Given the description of an element on the screen output the (x, y) to click on. 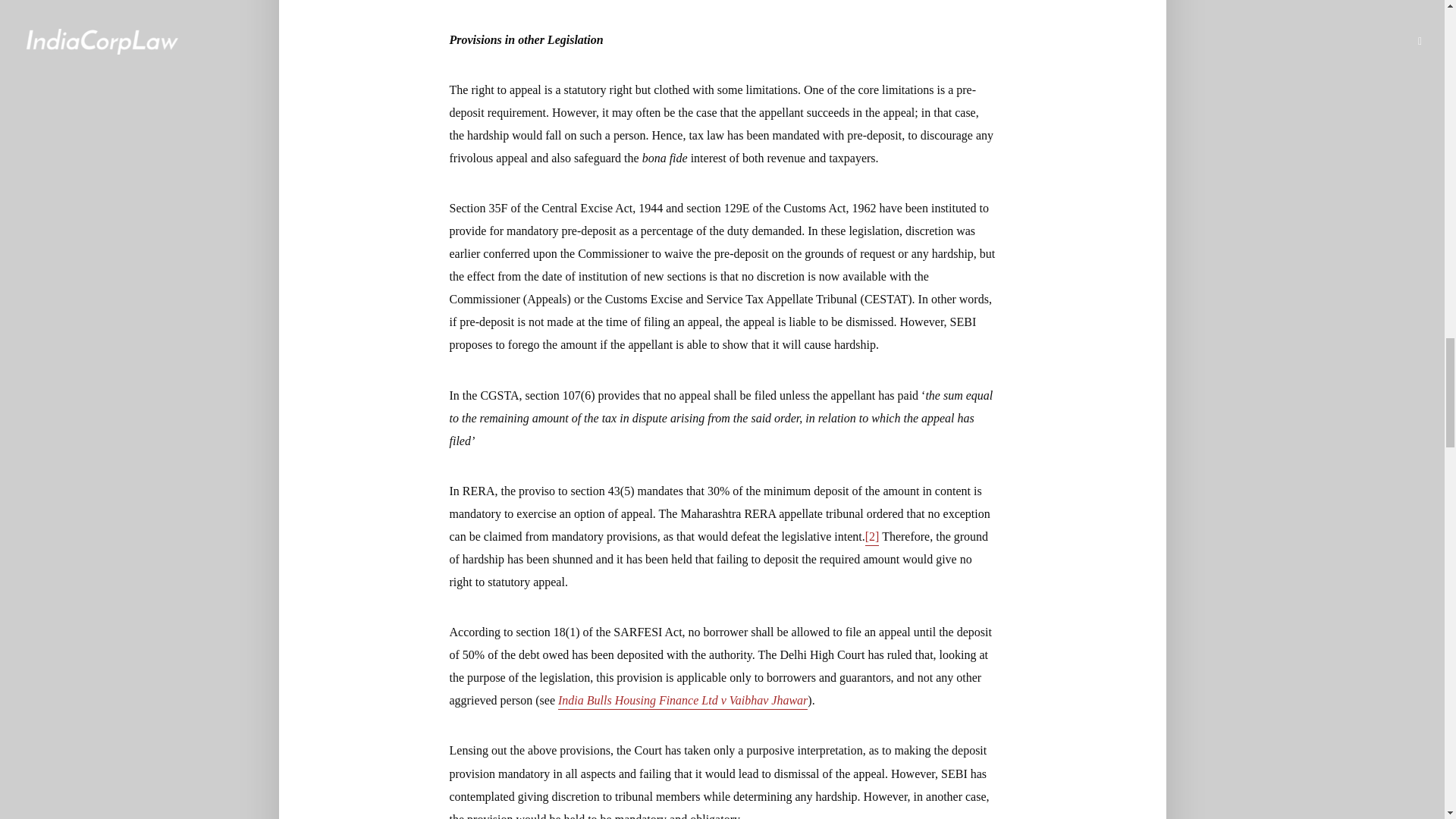
India Bulls Housing Finance Ltd v Vaibhav Jhawar (682, 701)
